Given the description of an element on the screen output the (x, y) to click on. 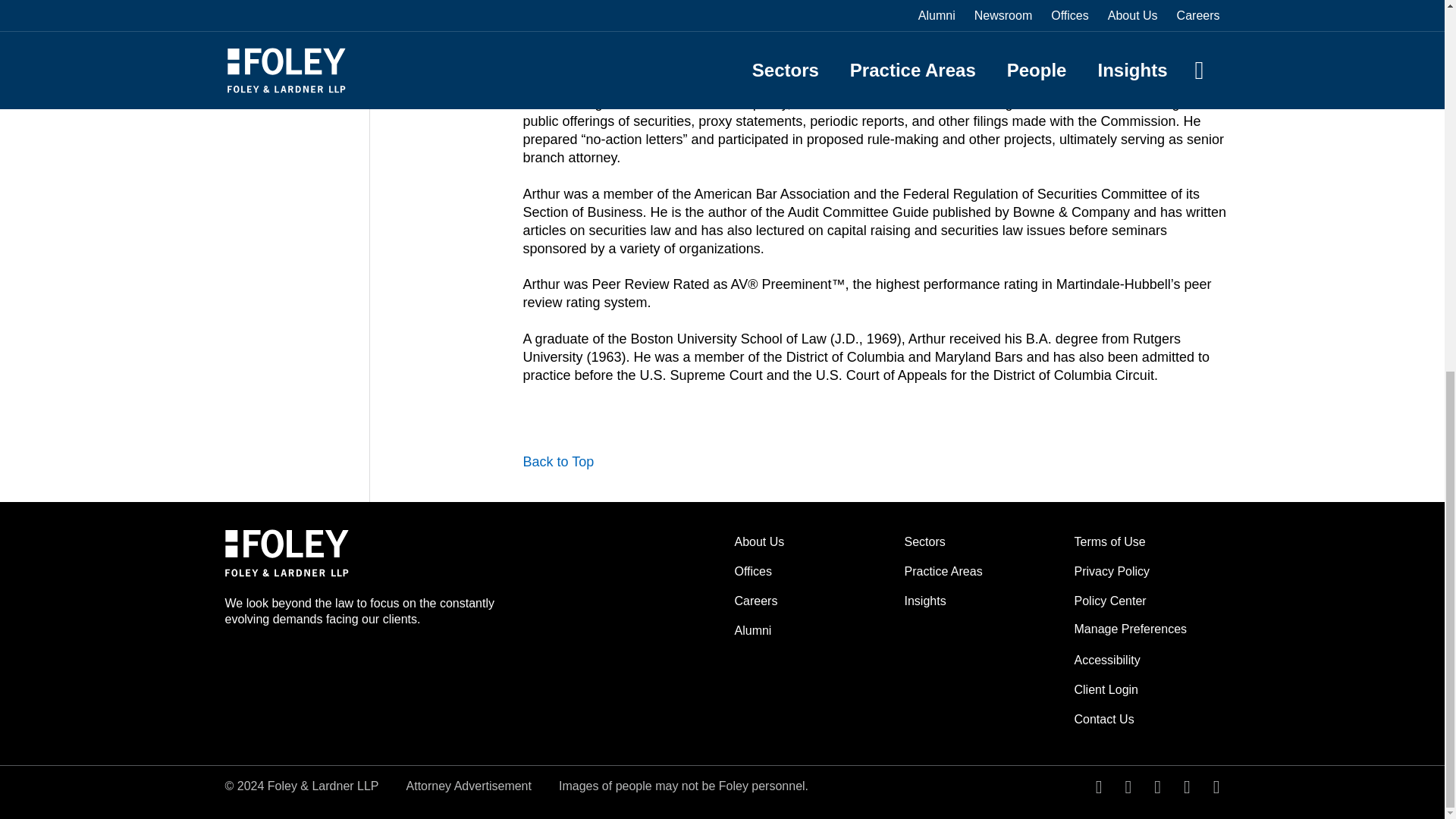
Back to Top (558, 462)
Careers (755, 600)
Alumni (752, 630)
Offices (752, 571)
Sectors (924, 541)
About Us (758, 541)
